Given the description of an element on the screen output the (x, y) to click on. 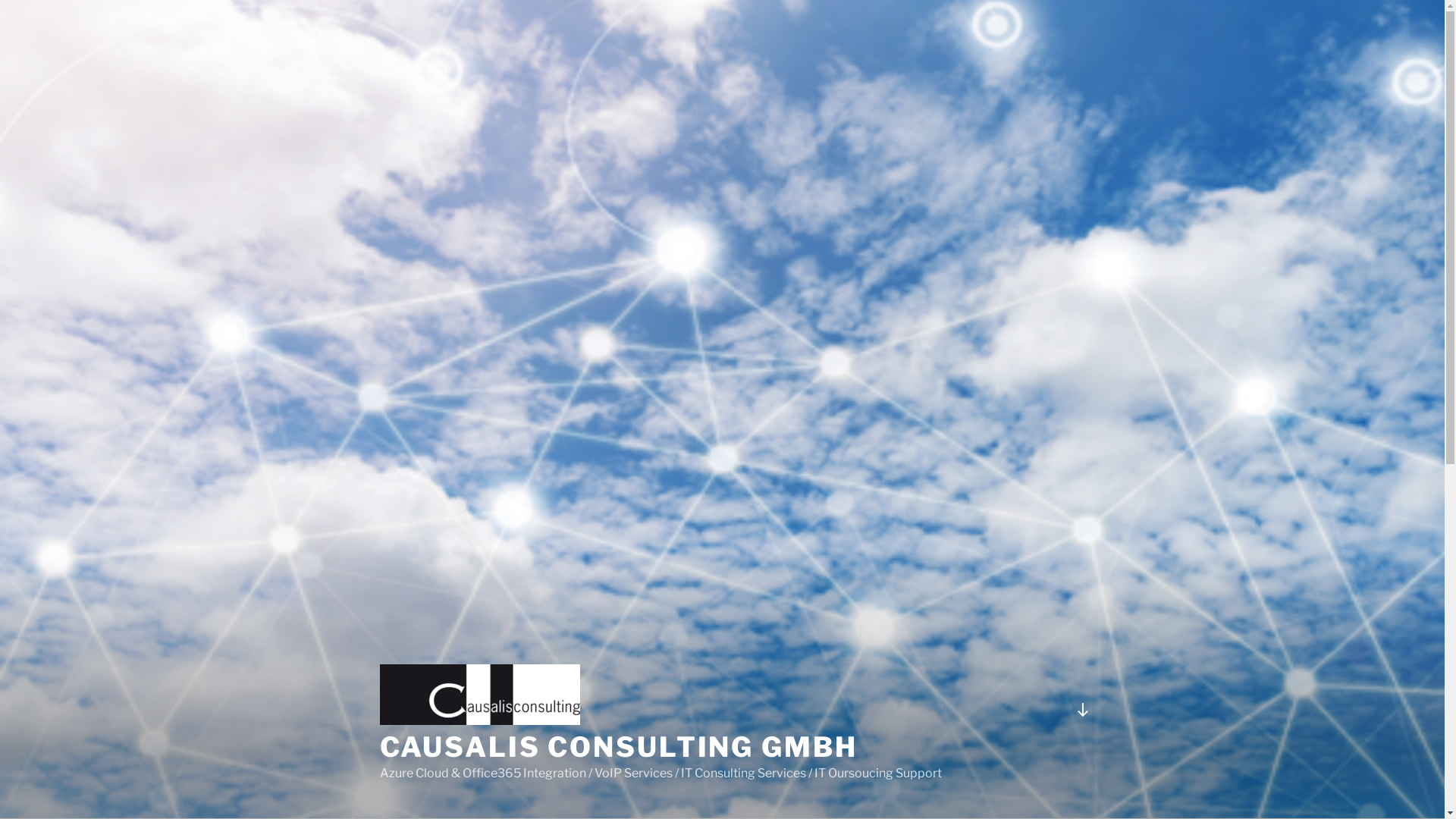
Zum Inhalt springen Element type: text (0, 0)
CAUSALIS CONSULTING GMBH Element type: text (617, 746)
Zum Inhalt nach unten scrollen Element type: text (1082, 709)
